Given the description of an element on the screen output the (x, y) to click on. 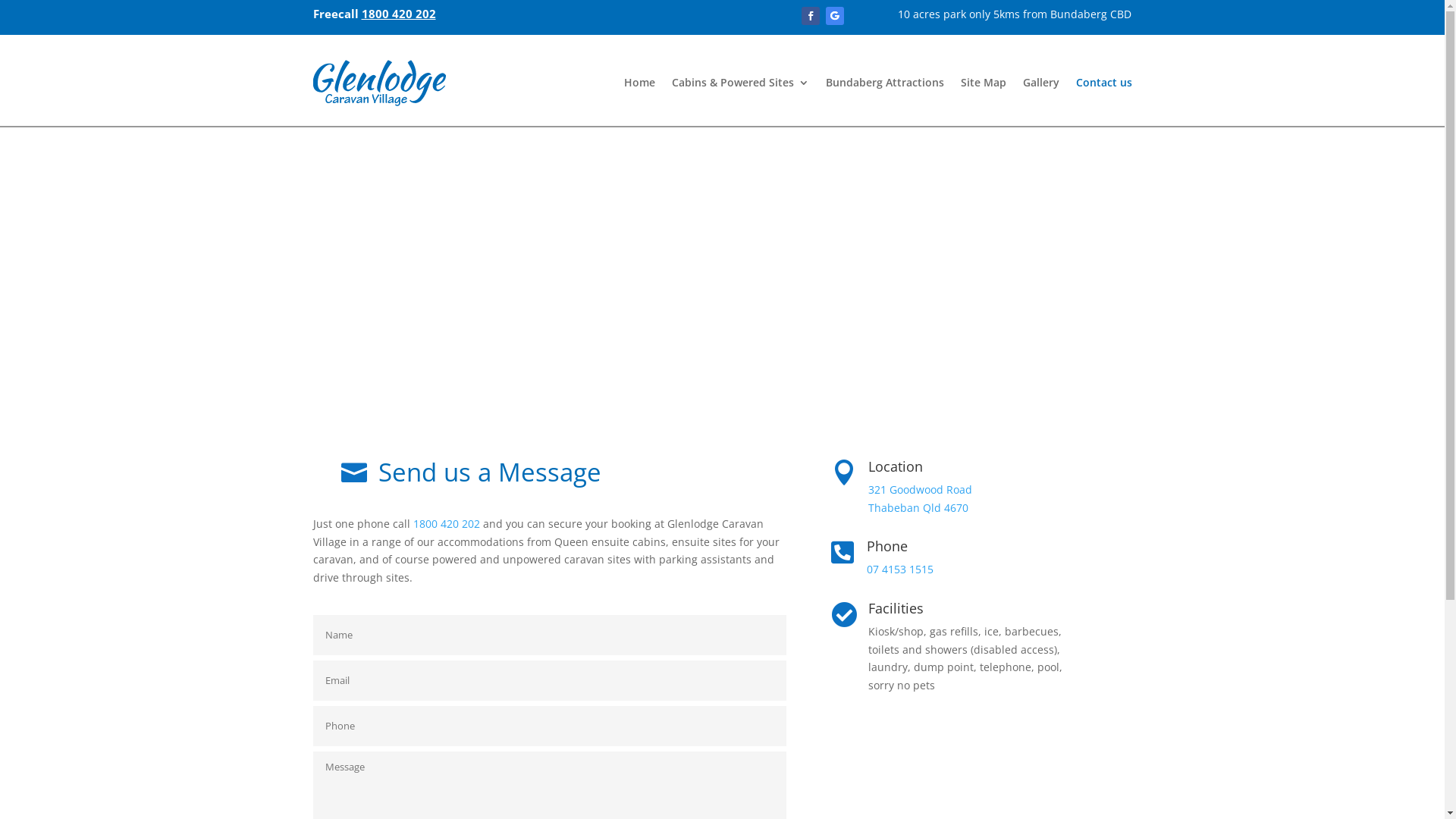
321 Goodwood Road Element type: text (920, 489)
Bundaberg Attractions Element type: text (884, 82)
10 acres park only 5kms from Bundaberg CBD Element type: text (1014, 13)
Thabeban Qld 4670 Element type: text (918, 507)
Follow on Facebook Element type: hover (810, 15)
1800 420 202 Element type: text (445, 523)
Contact us Element type: text (1103, 82)
Home Element type: text (638, 82)
Follow on Google Element type: hover (834, 15)
07 4153 1515 Element type: text (899, 568)
Gallery Element type: text (1040, 82)
1800 420 202 Element type: text (397, 13)
Site Map Element type: text (982, 82)
Cabins & Powered Sites Element type: text (740, 82)
